Given the description of an element on the screen output the (x, y) to click on. 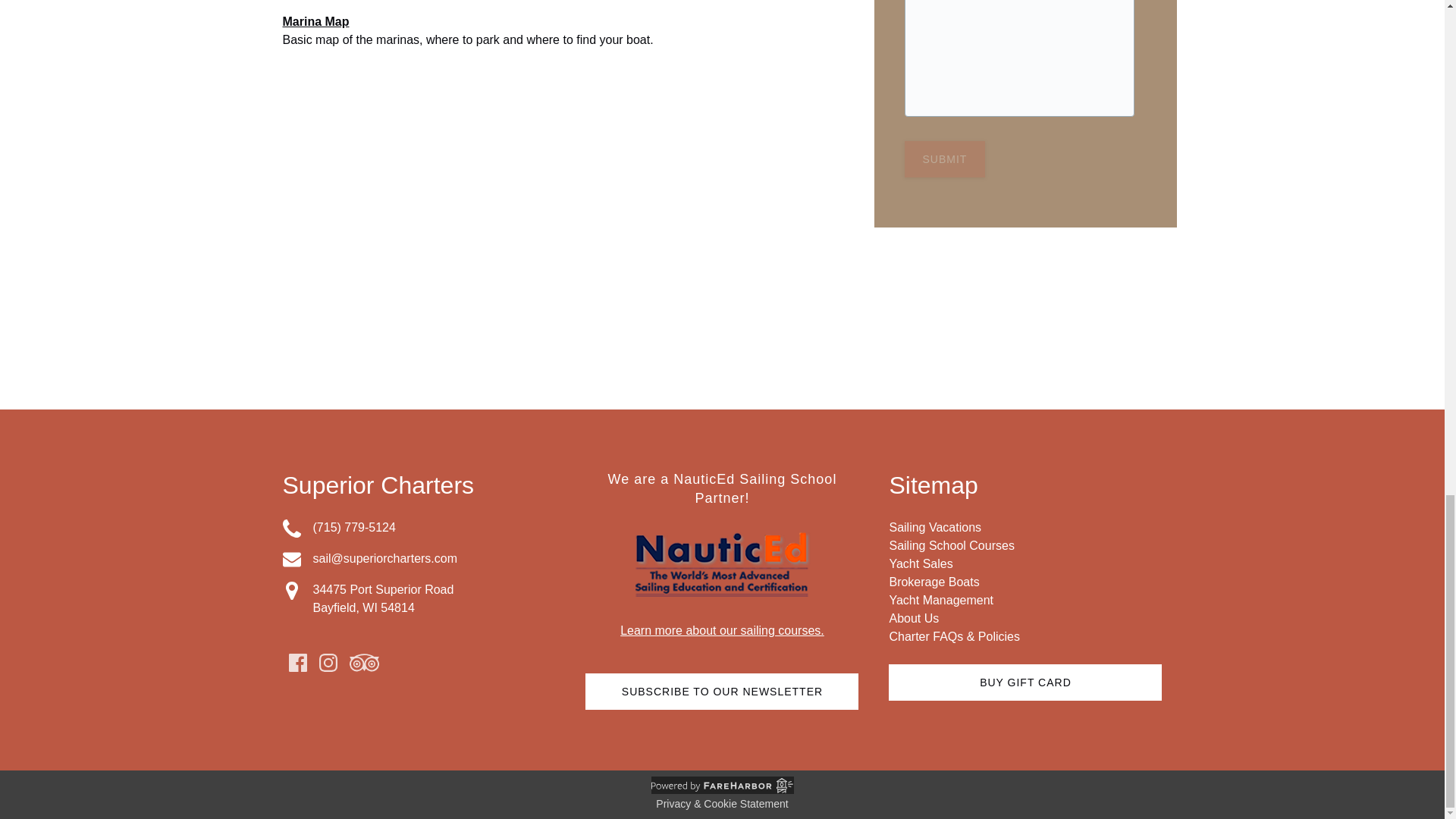
Phone (290, 528)
Submit (944, 158)
Envelope (290, 559)
Map Marker (290, 590)
